Given the description of an element on the screen output the (x, y) to click on. 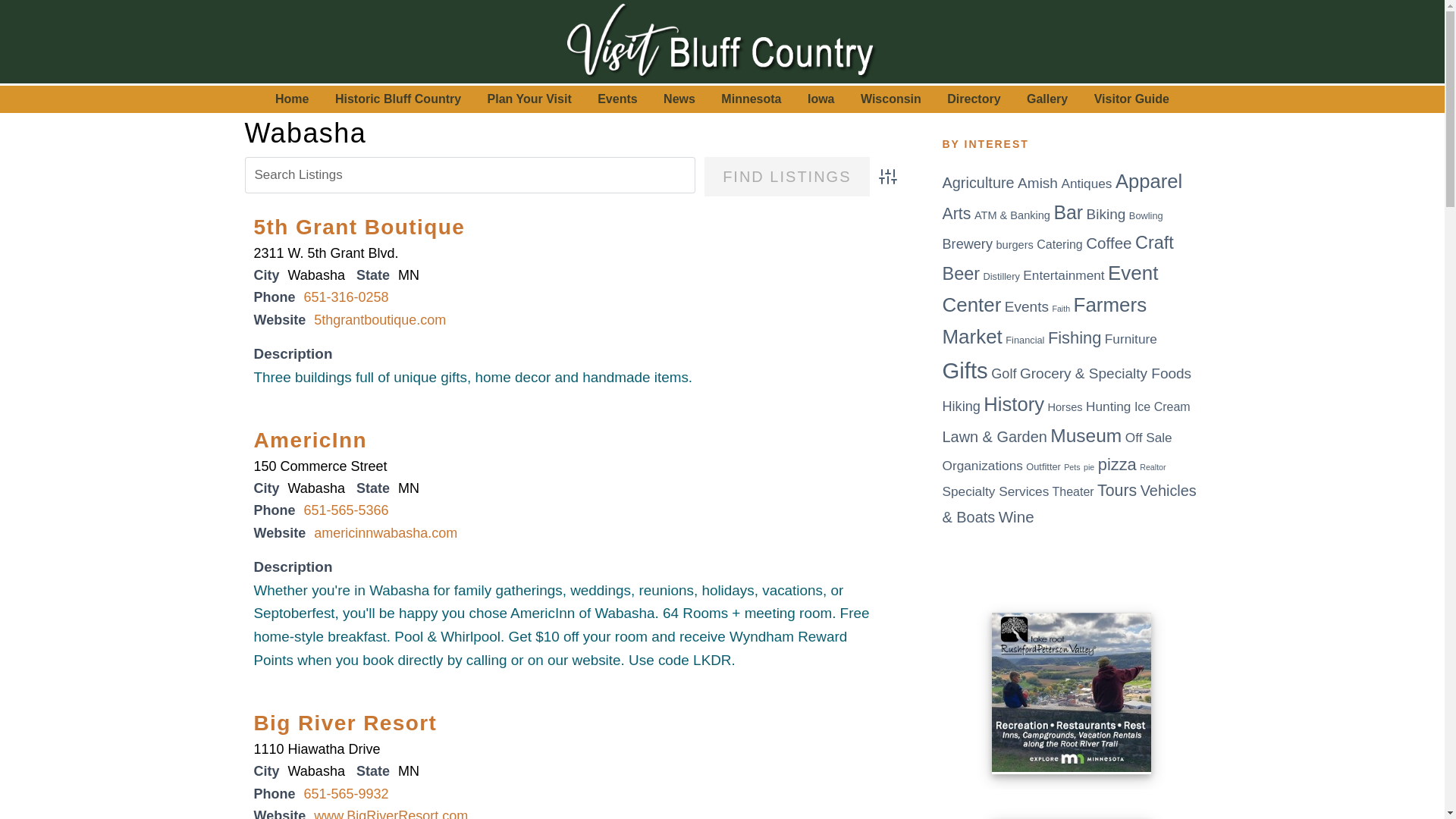
americinnwabasha.com (385, 532)
Plan Your Visit (529, 99)
Visitor Guide (1131, 99)
www.BigRiverResort.com (390, 813)
Iowa (820, 99)
Find Listings (786, 176)
AmericInn (309, 440)
651-565-5366 (346, 509)
Events (616, 99)
News (679, 99)
Find Listings (786, 176)
Gallery (1046, 99)
651-316-0258 (346, 296)
Wisconsin (890, 99)
Historic Bluff Country (397, 99)
